Given the description of an element on the screen output the (x, y) to click on. 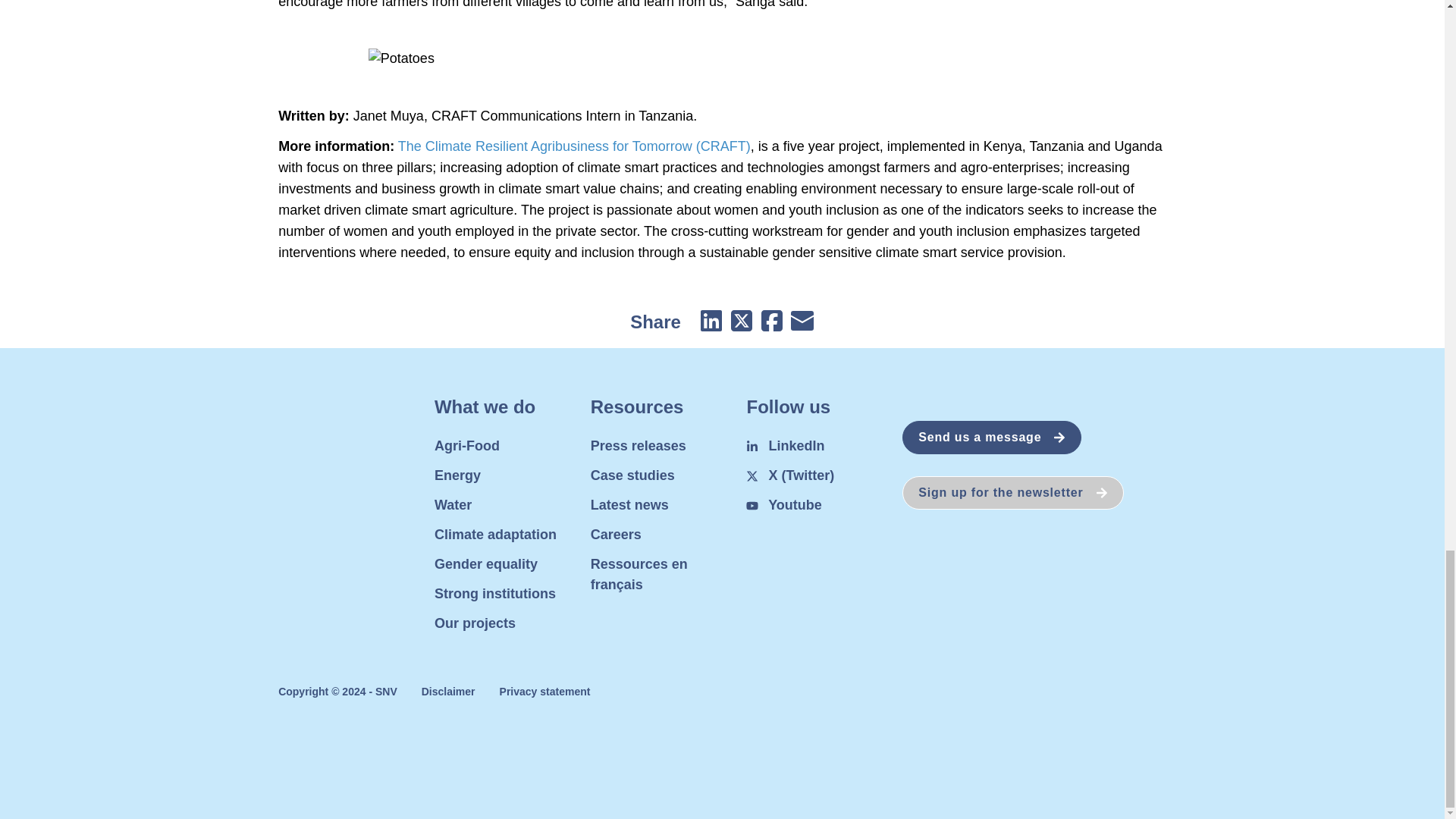
Energy (456, 475)
Climate adaptation (494, 534)
Press releases (638, 445)
Our projects (474, 622)
Case studies (633, 475)
Strong institutions (494, 593)
Agri-Food (466, 445)
Water (452, 504)
Careers (616, 534)
Gender equality (485, 563)
